Given the description of an element on the screen output the (x, y) to click on. 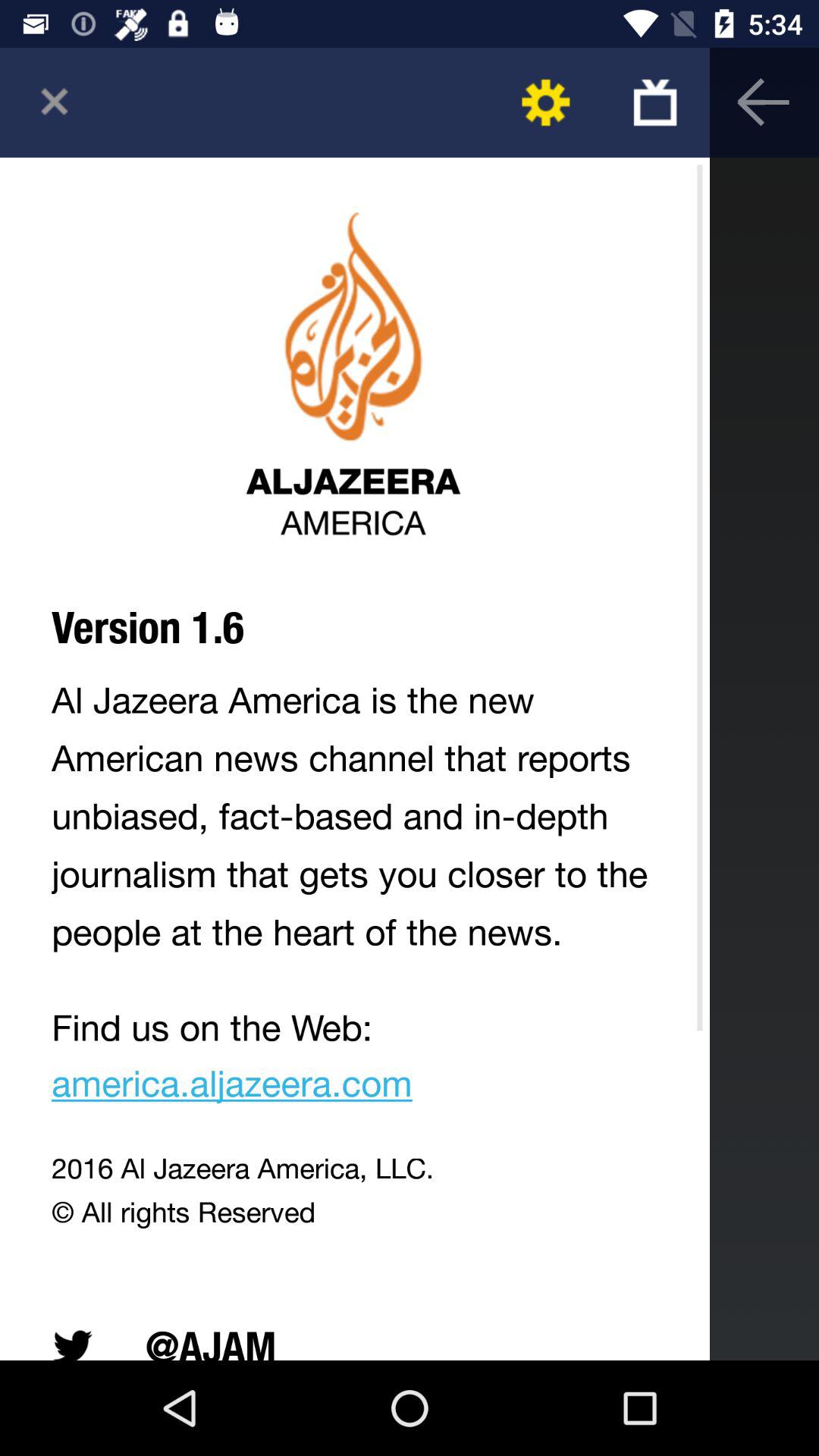
select find us on app (354, 1060)
